Given the description of an element on the screen output the (x, y) to click on. 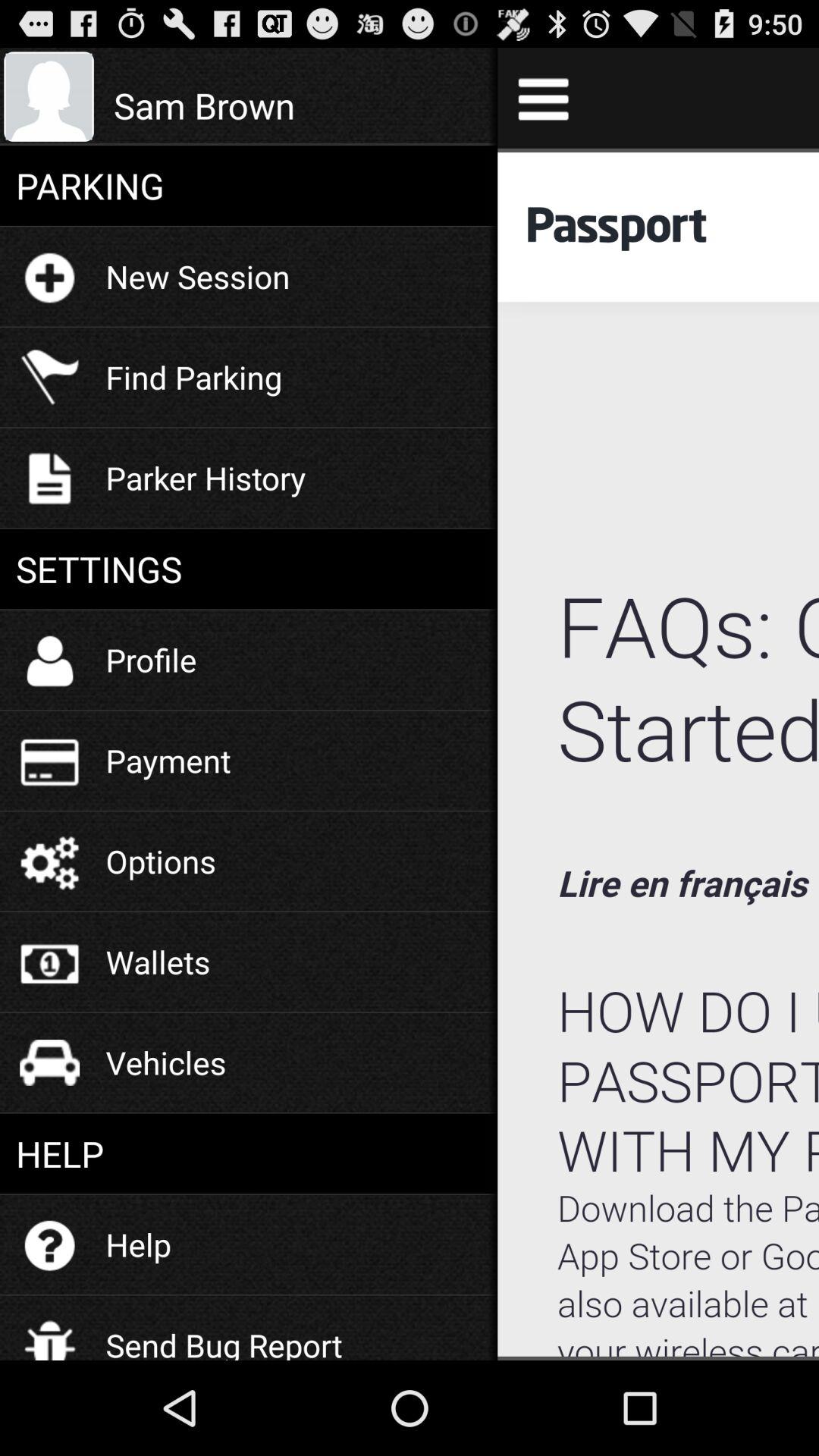
click the icon below the wallets (165, 1061)
